Given the description of an element on the screen output the (x, y) to click on. 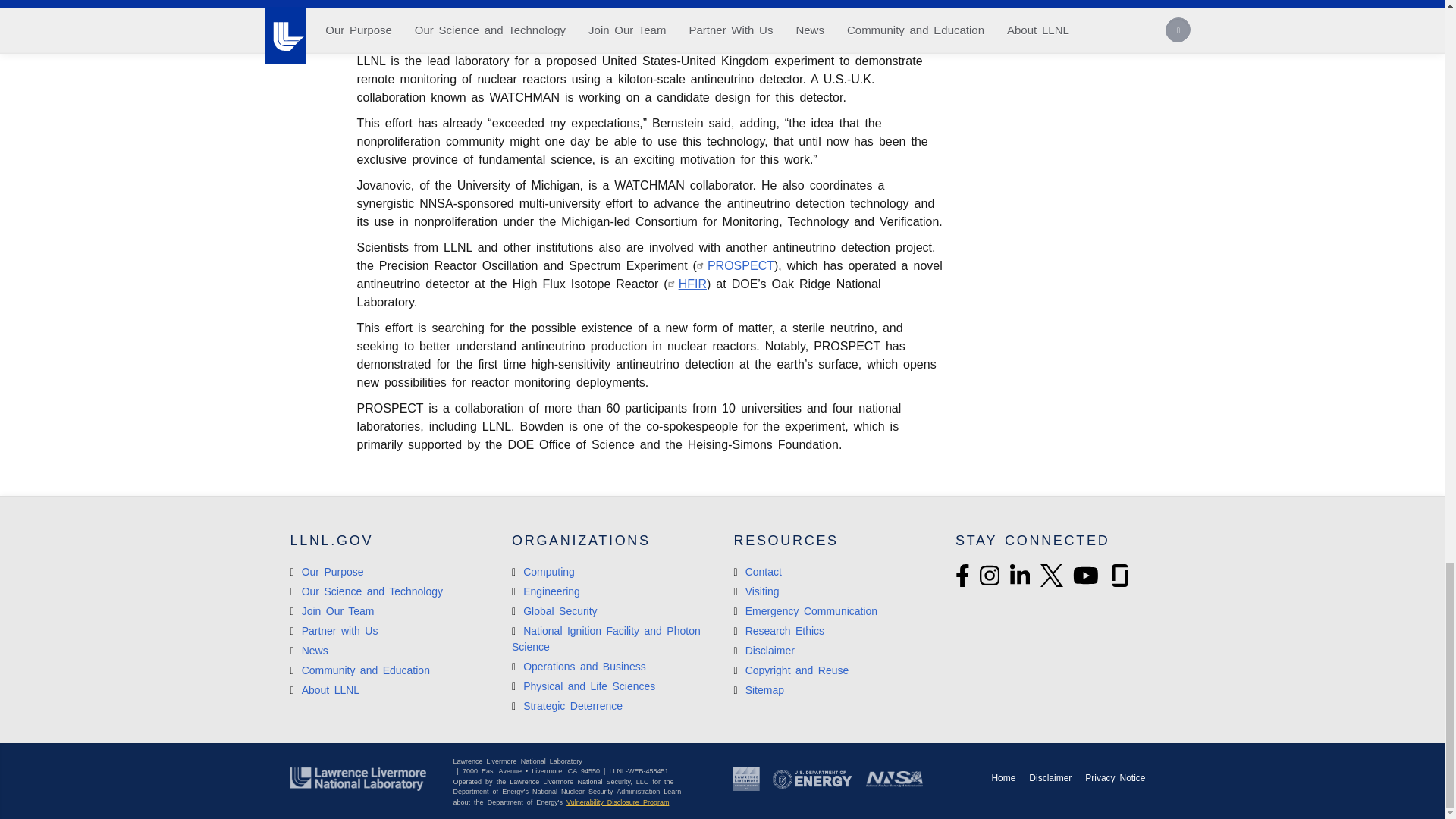
Science and Technology (365, 591)
Computation (543, 571)
News (308, 650)
Physical and Life Sciences (583, 686)
Engineering (545, 591)
Lasers (606, 638)
Computation (579, 666)
Partner with Us (333, 630)
About (324, 689)
Global Security (554, 611)
Our Purpose (325, 571)
Community and Education (359, 670)
Careers (331, 611)
